Given the description of an element on the screen output the (x, y) to click on. 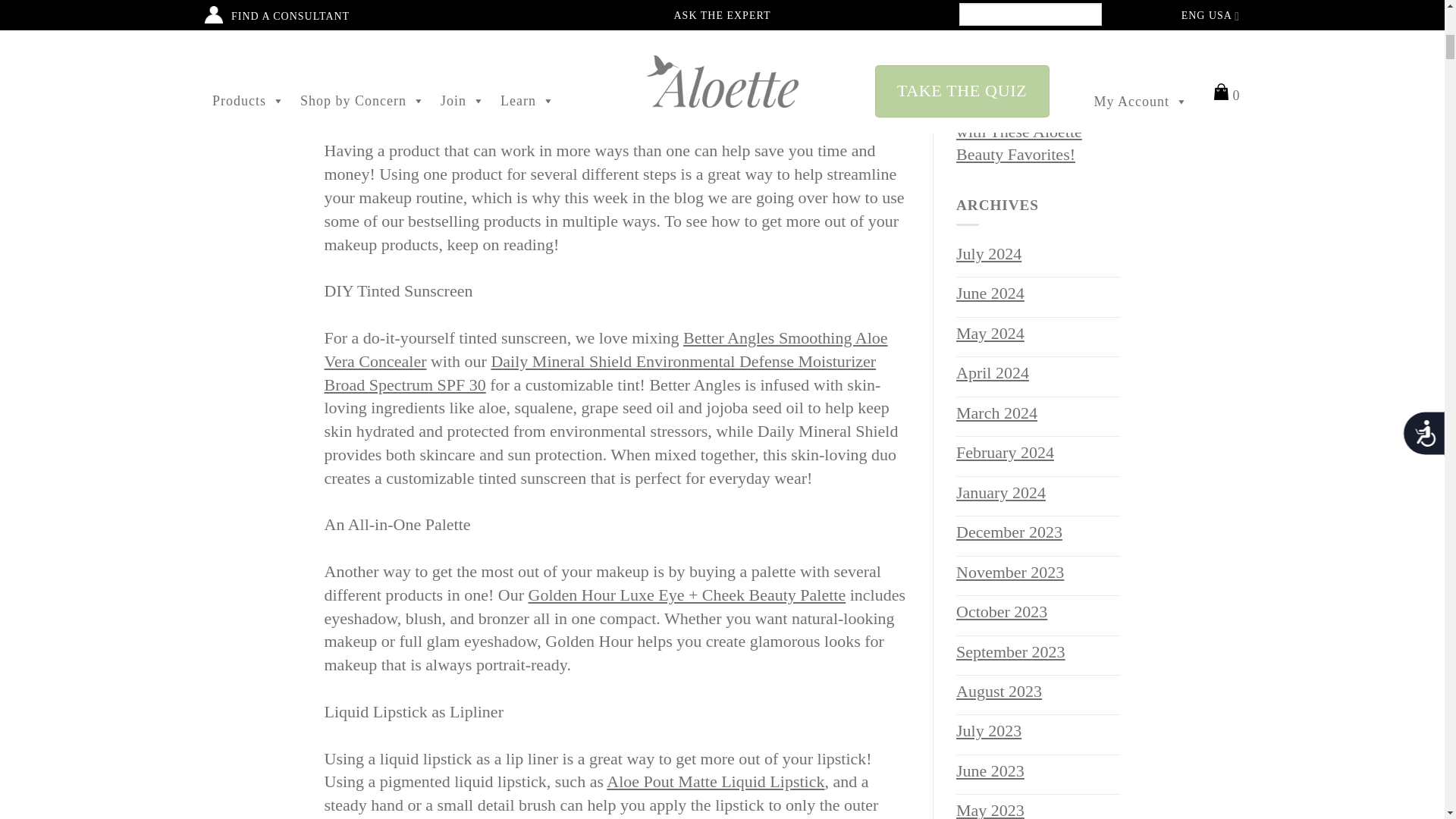
Tumblr (381, 92)
Twitter (358, 92)
Email (335, 92)
Pinterest (426, 92)
Facebook (403, 92)
